Given the description of an element on the screen output the (x, y) to click on. 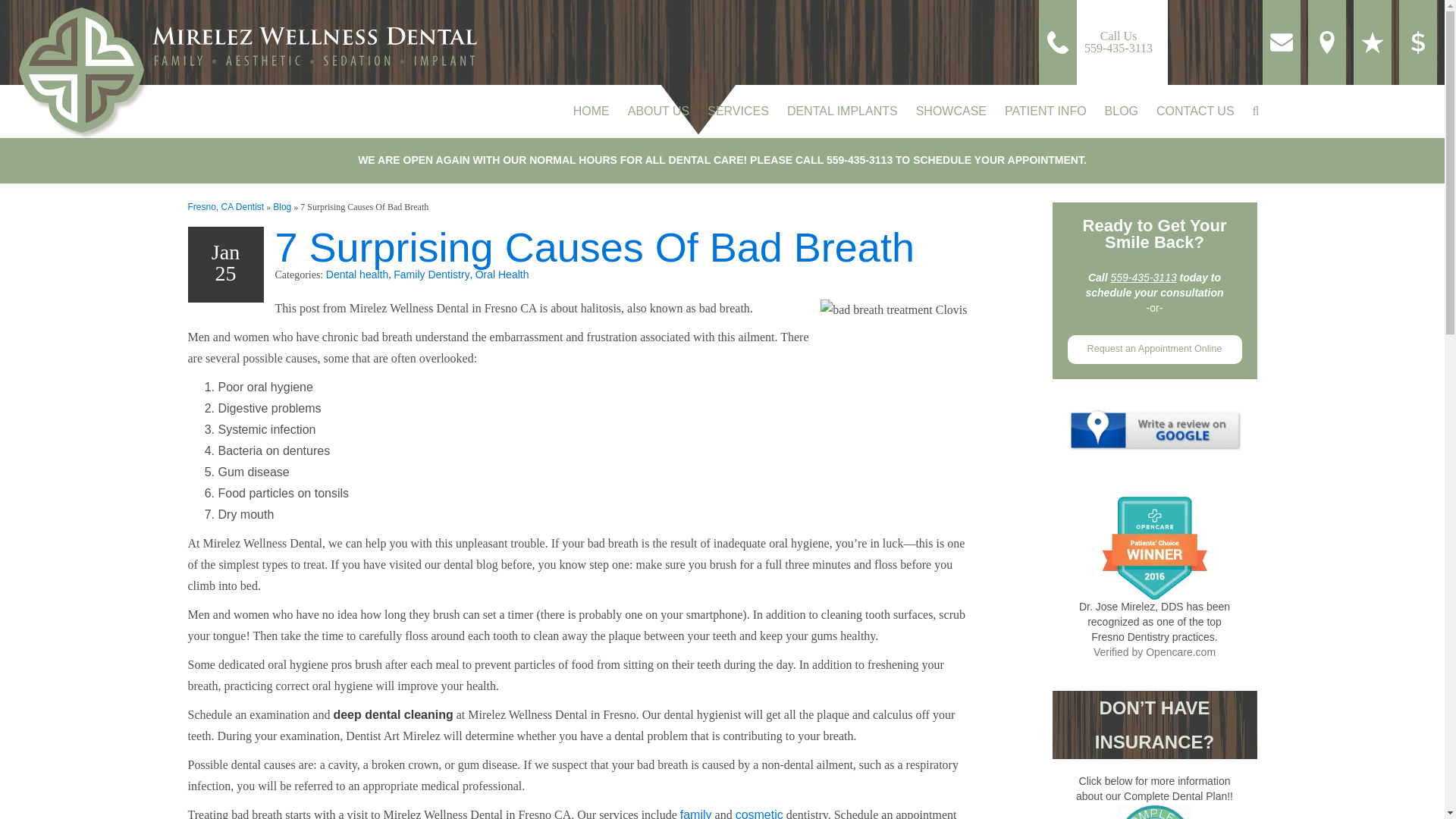
SERVICES (737, 111)
HOME (591, 111)
ABOUT US (1099, 42)
